Given the description of an element on the screen output the (x, y) to click on. 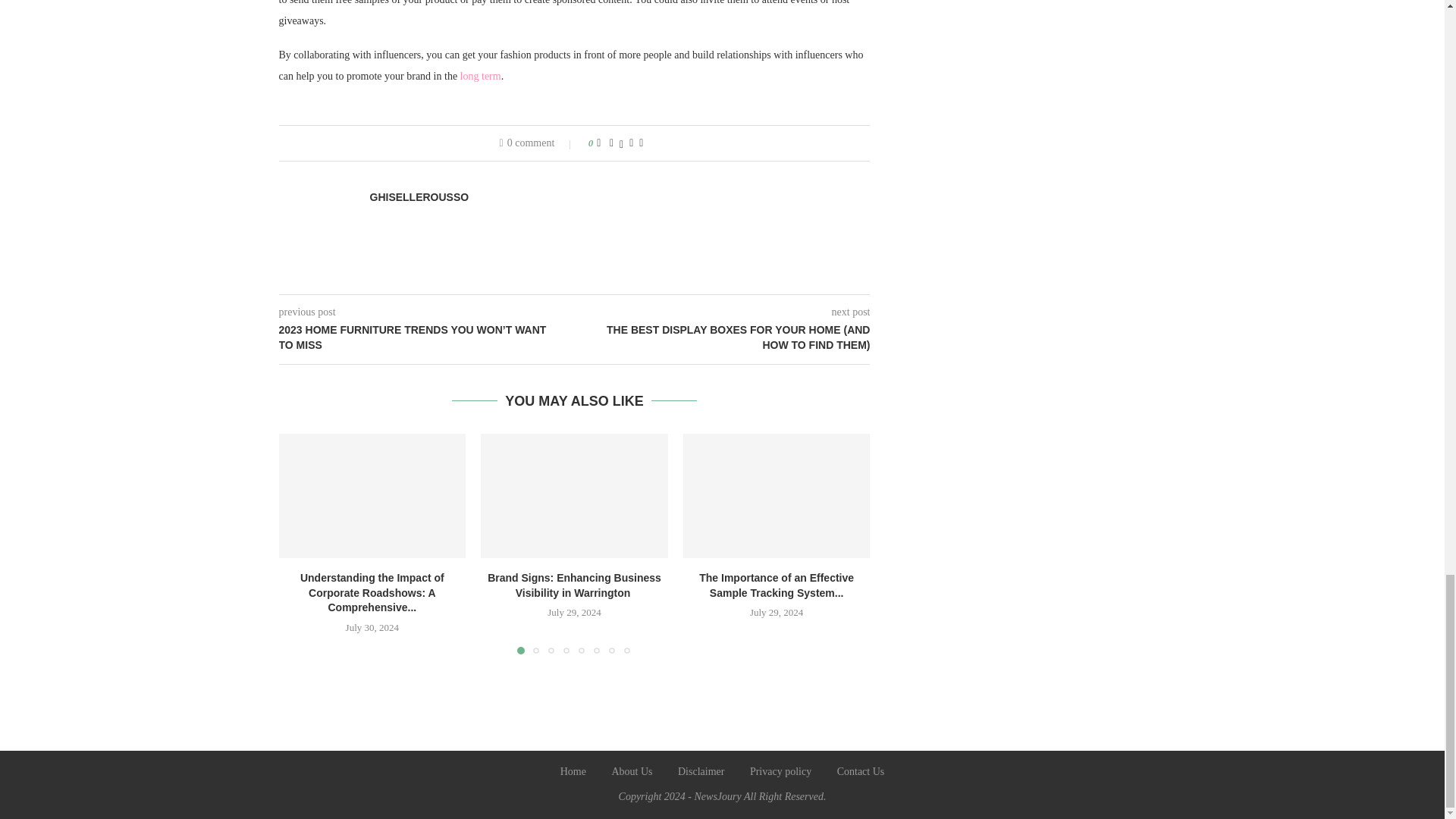
Author ghisellerousso (418, 197)
